Given the description of an element on the screen output the (x, y) to click on. 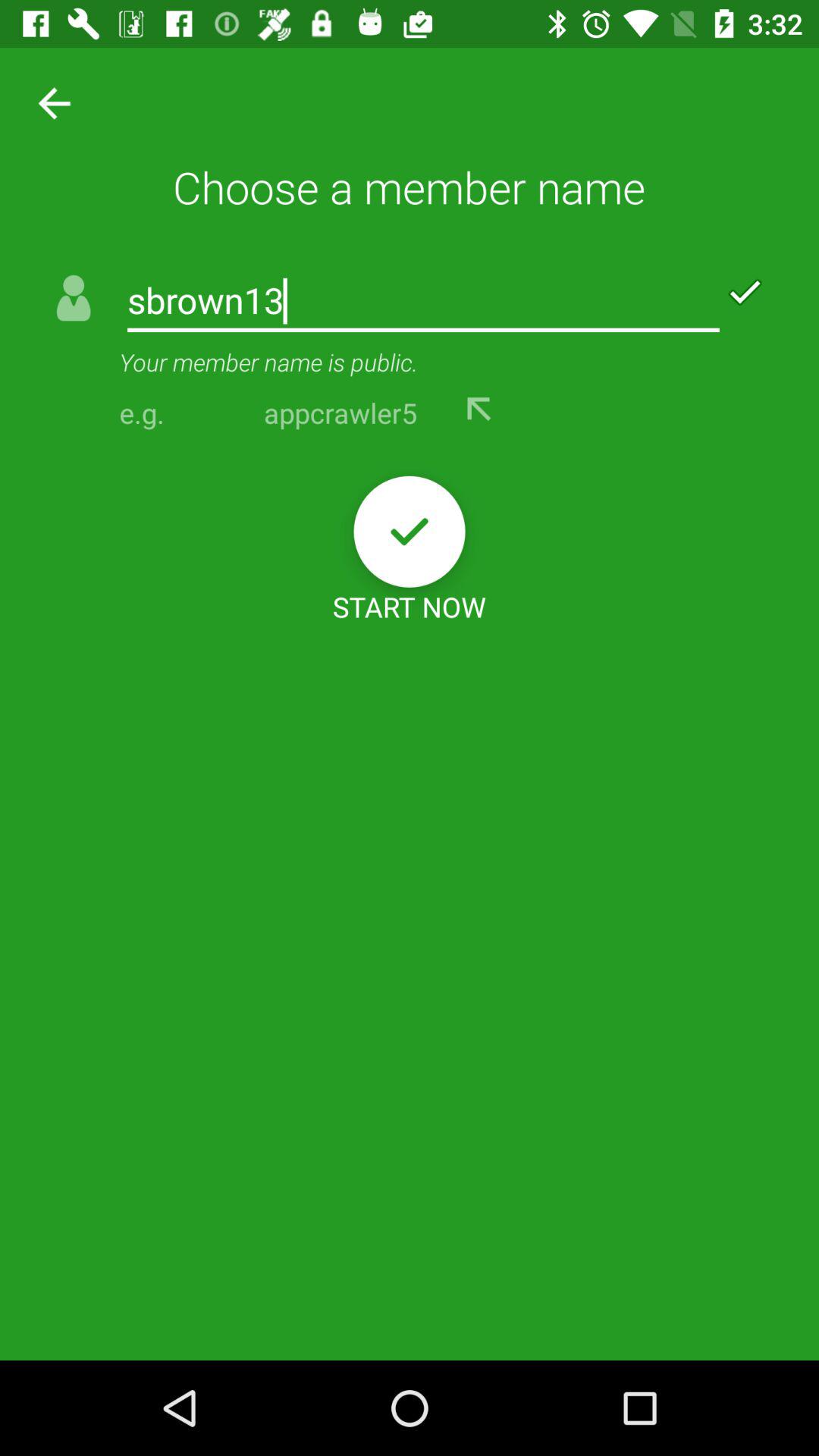
go back (479, 409)
